Given the description of an element on the screen output the (x, y) to click on. 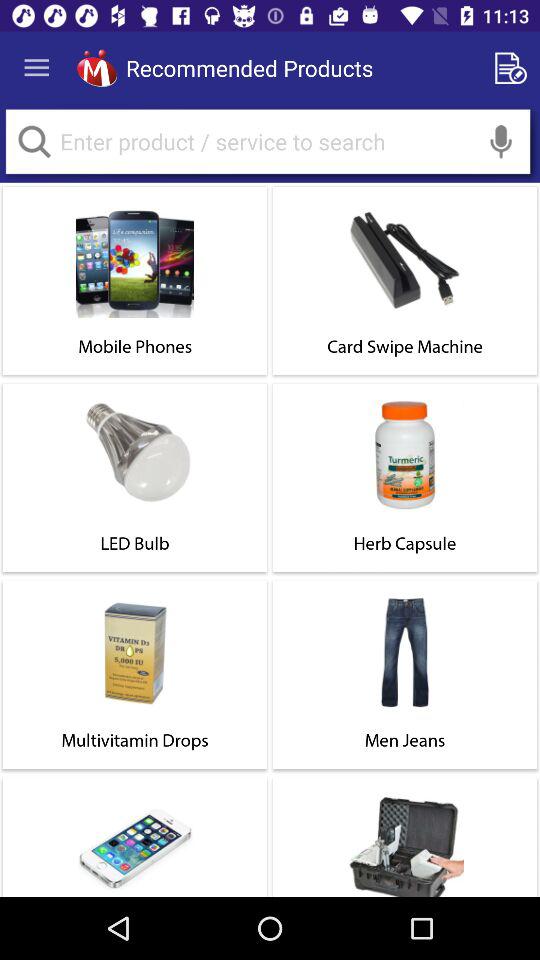
type words to search (267, 141)
